Given the description of an element on the screen output the (x, y) to click on. 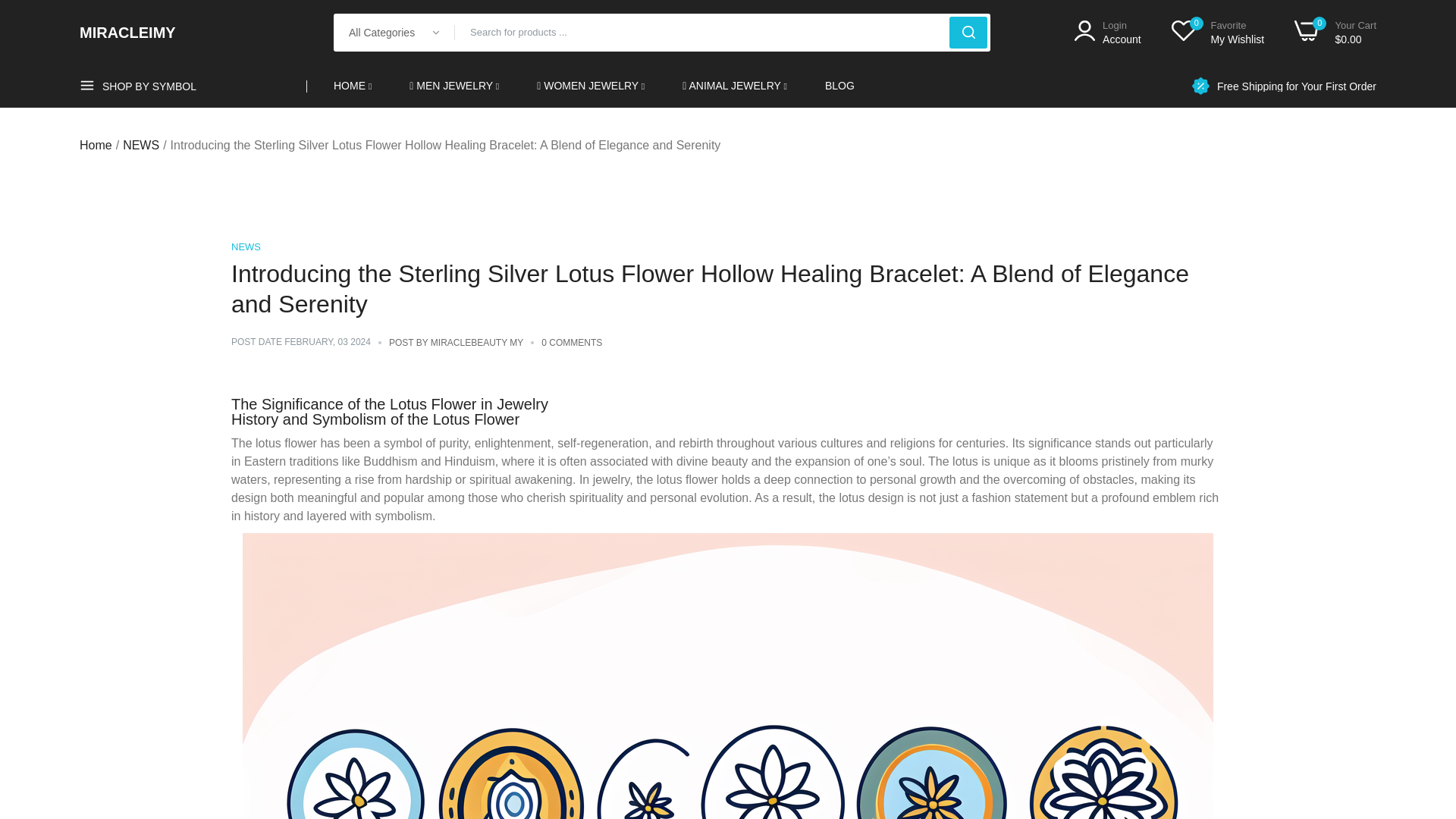
WOMEN JEWELRY (591, 86)
HOME (1218, 31)
Your Cart (352, 86)
Home (1334, 31)
Login (96, 145)
NEWS (1107, 31)
ANIMAL JEWELRY (140, 145)
